Given the description of an element on the screen output the (x, y) to click on. 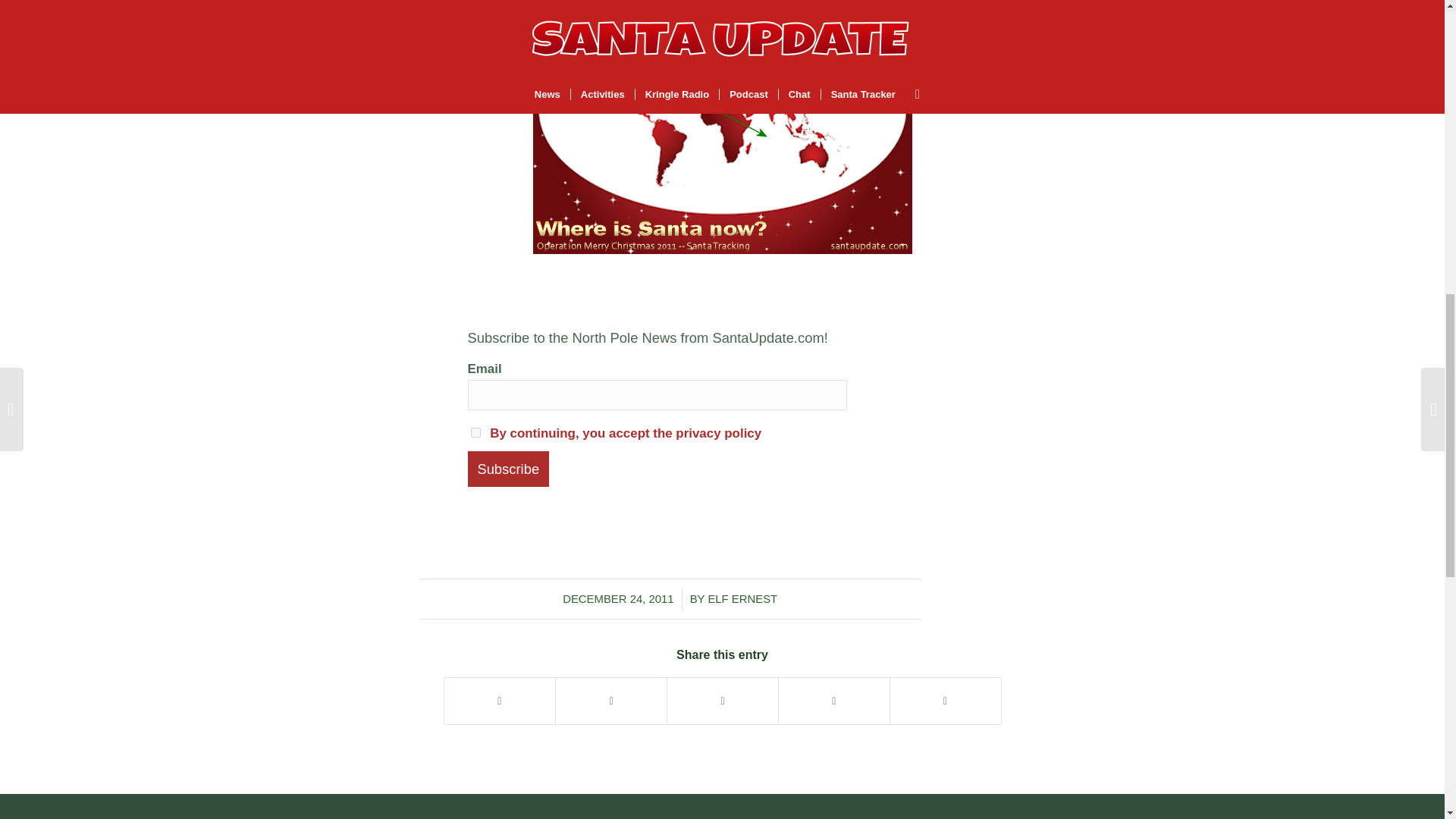
Subscribe (507, 469)
Posts by Elf Ernest (742, 598)
6 (721, 130)
on (475, 432)
